Given the description of an element on the screen output the (x, y) to click on. 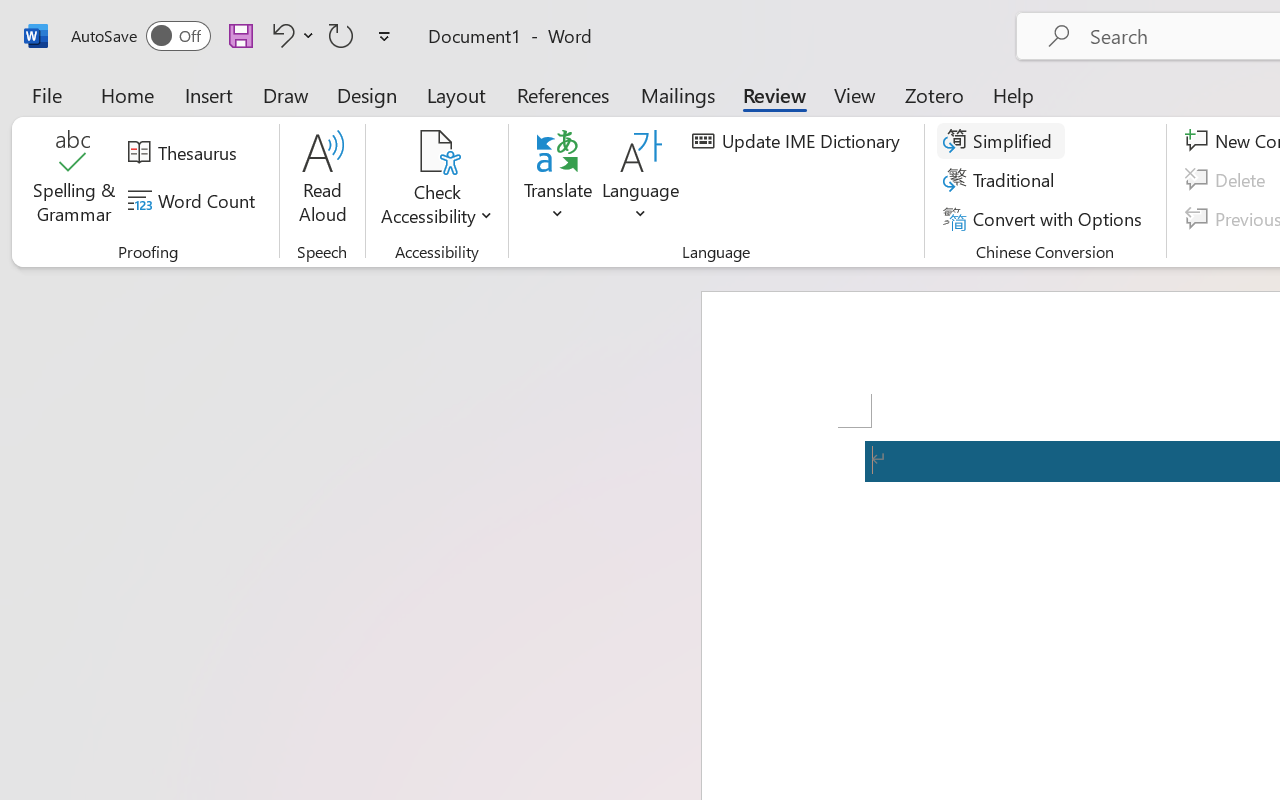
Simplified (1000, 141)
Check Accessibility (436, 179)
Update IME Dictionary... (799, 141)
Repeat TCSCTranslate (341, 35)
Traditional (1001, 179)
Read Aloud (322, 179)
Translate (558, 179)
Word Count (194, 201)
